Given the description of an element on the screen output the (x, y) to click on. 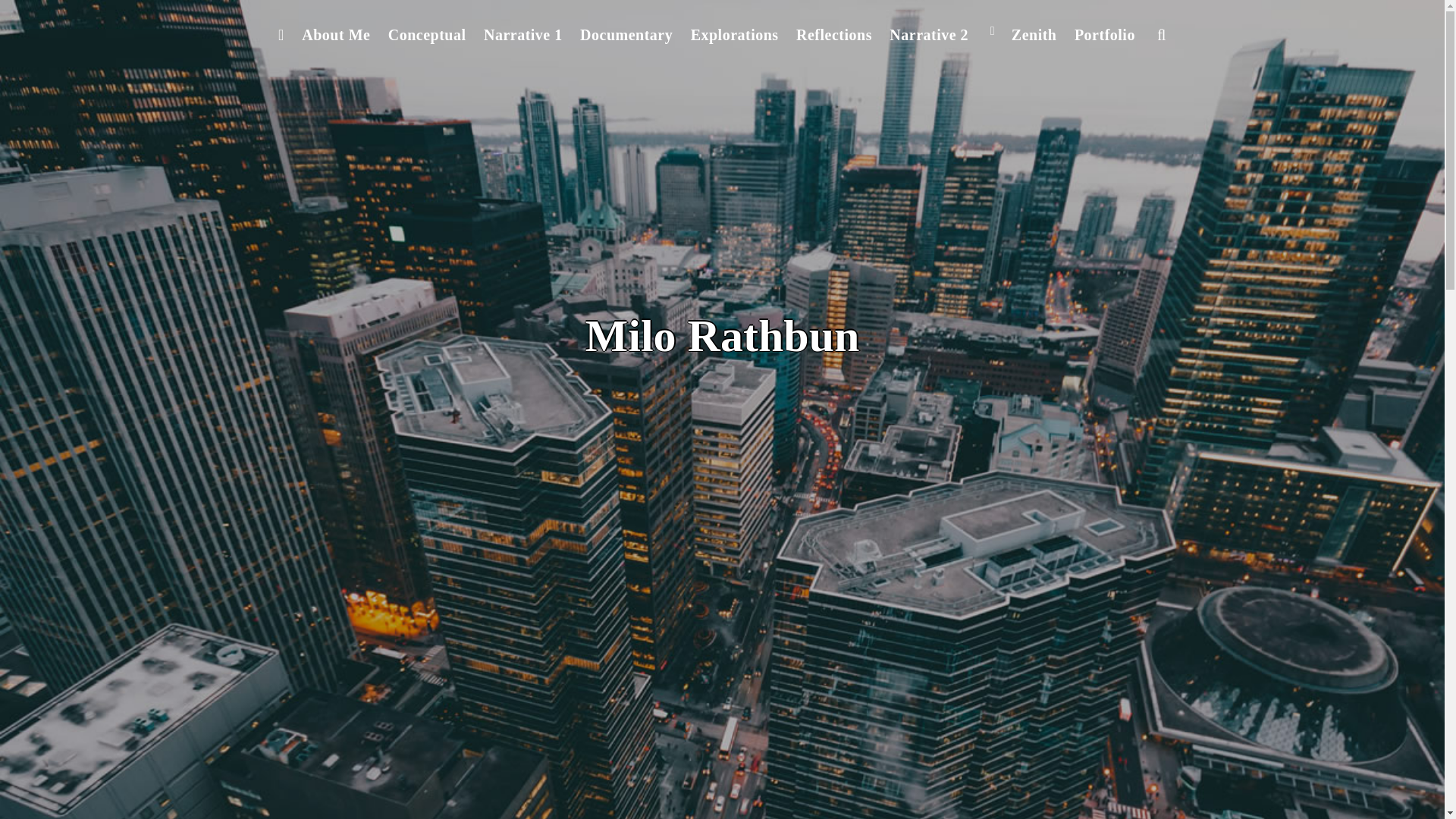
Zenith (1034, 35)
About Me (336, 35)
Explorations (734, 35)
Reflections (833, 35)
Narrative 1 (522, 35)
Portfolio (1103, 35)
Conceptual (426, 35)
Documentary (625, 35)
Narrative 2 (941, 35)
Milo Rathbun (722, 336)
